Given the description of an element on the screen output the (x, y) to click on. 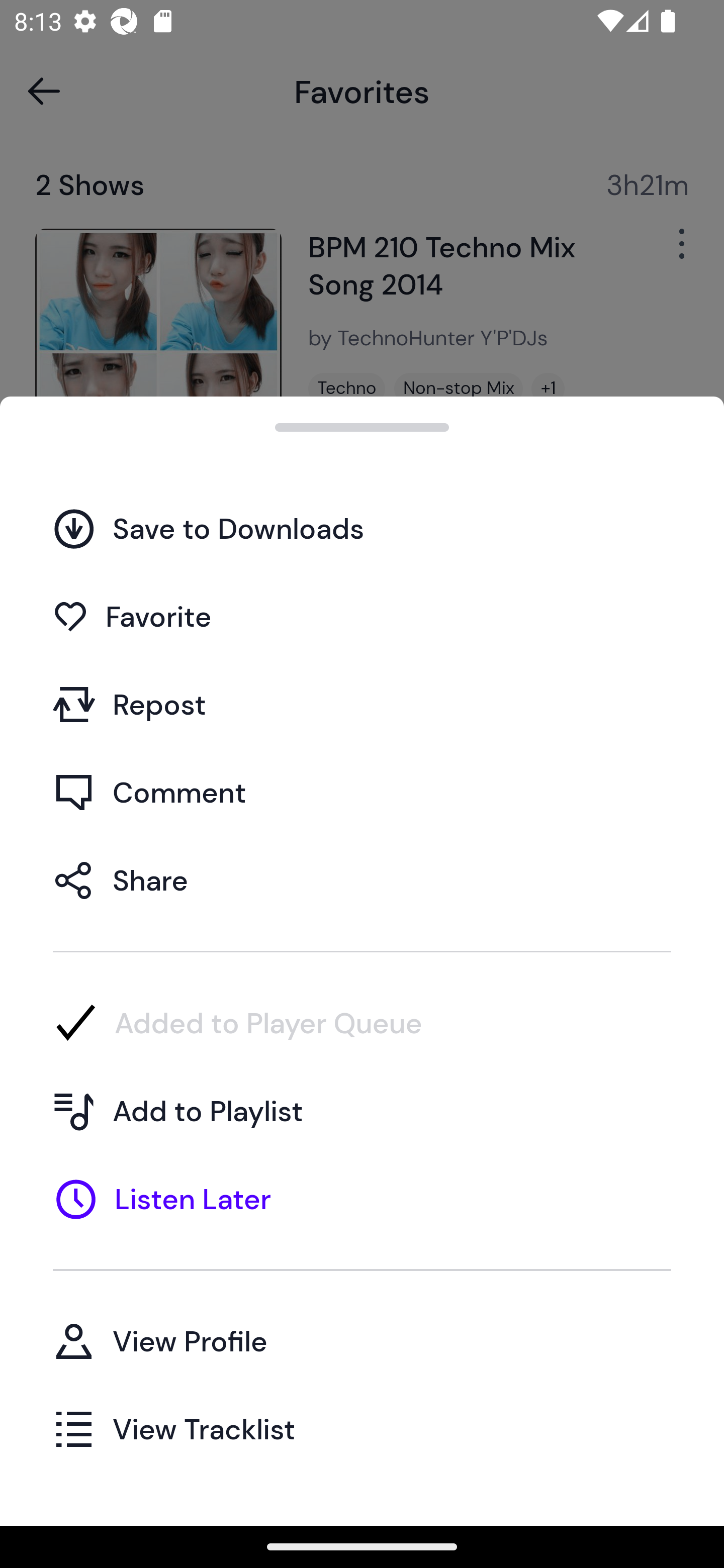
Save to Downloads (361, 528)
Favorite (361, 616)
Repost (361, 703)
Comment (361, 791)
Share (361, 879)
Add to Playlist (361, 1110)
Listen Later (361, 1199)
View Profile (361, 1340)
View Tracklist (361, 1428)
